Given the description of an element on the screen output the (x, y) to click on. 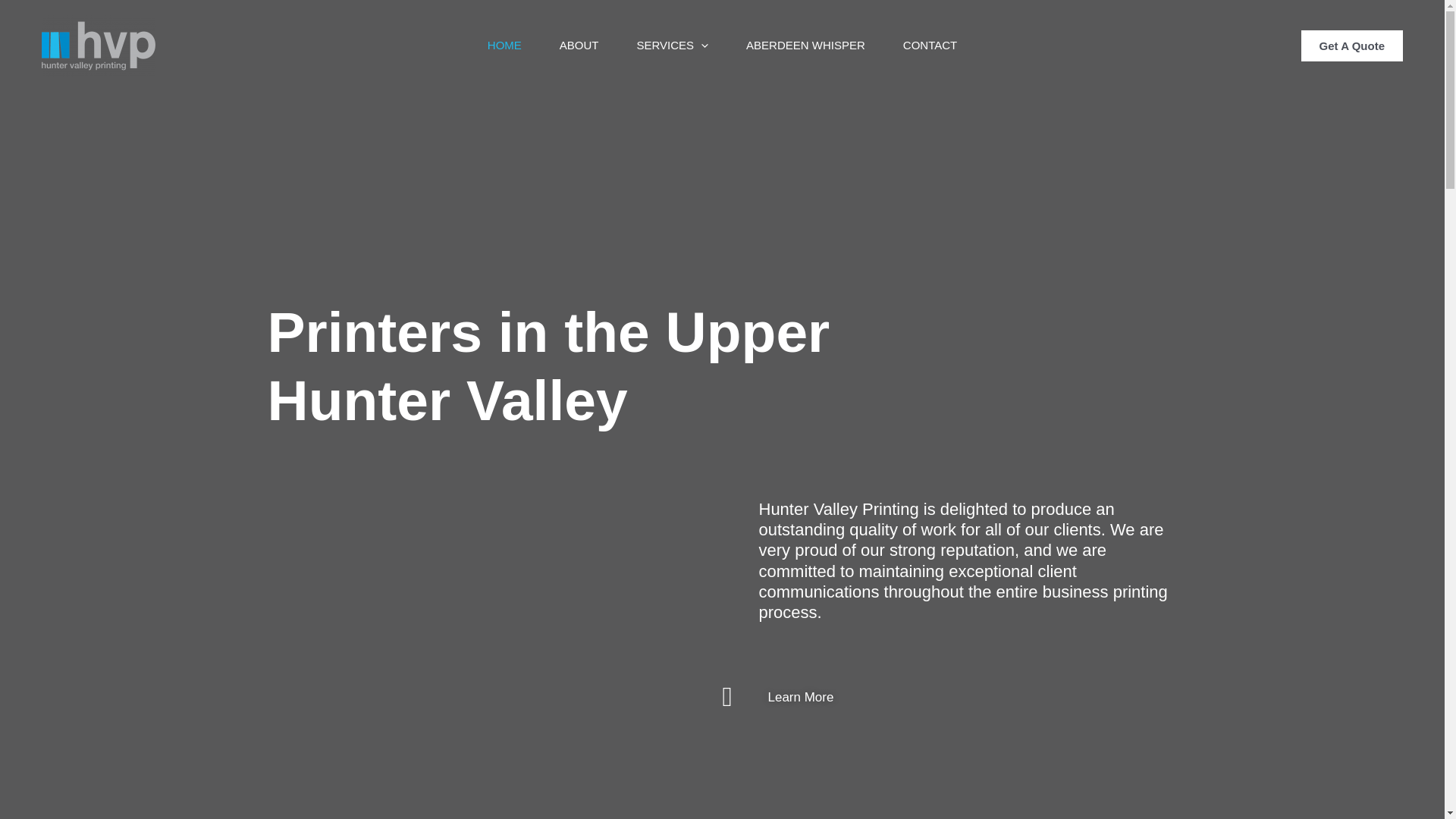
SERVICES Element type: text (672, 45)
CONTACT Element type: text (929, 45)
ABERDEEN WHISPER Element type: text (805, 45)
ABOUT Element type: text (579, 45)
Learn More Element type: text (777, 696)
HOME Element type: text (504, 45)
Get A Quote Element type: text (1351, 45)
